Given the description of an element on the screen output the (x, y) to click on. 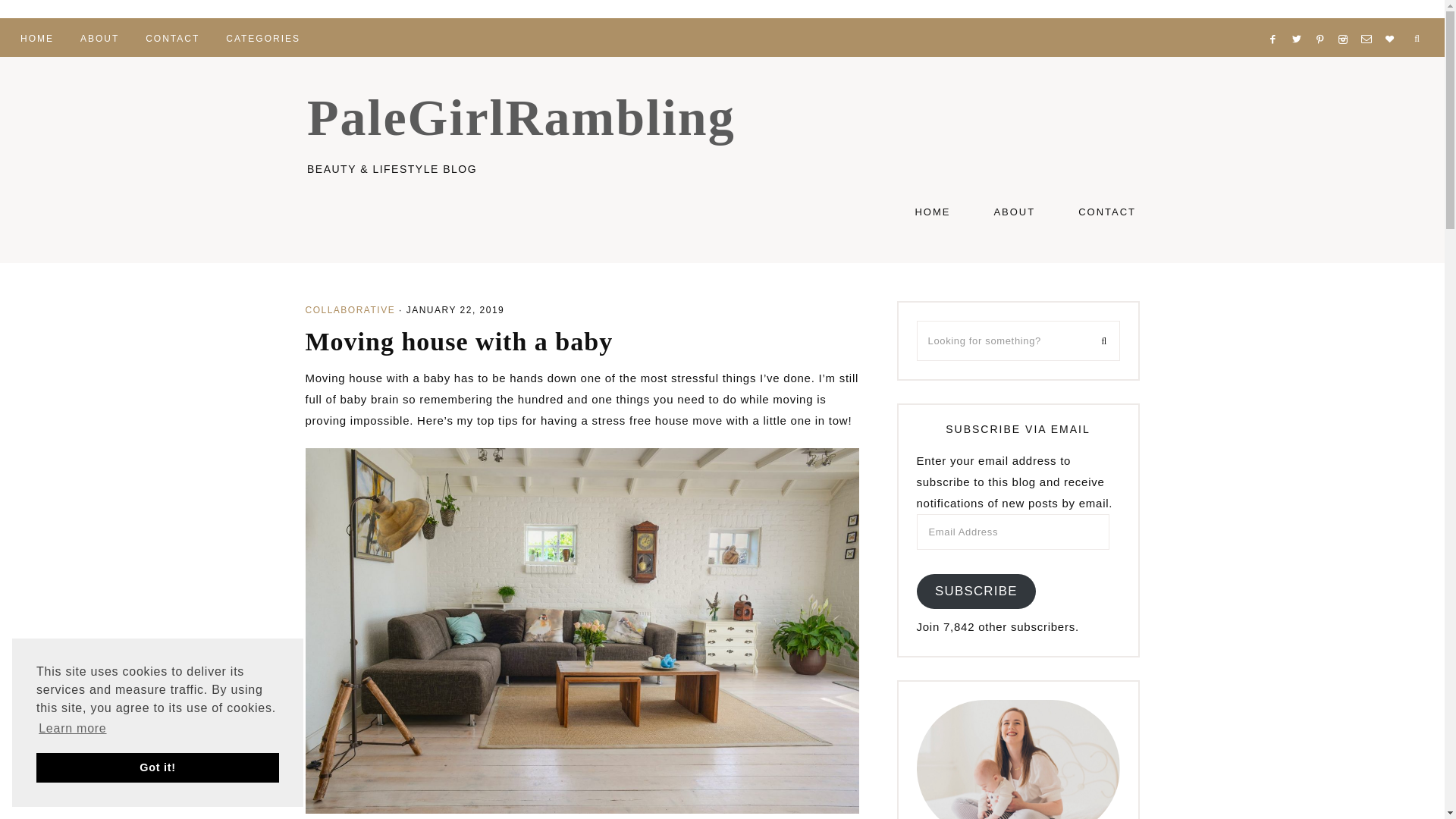
Facebook (1276, 20)
Got it! (157, 767)
Pinterest (1323, 20)
Instagram (1345, 20)
CATEGORIES (262, 37)
Bloglovin (1393, 20)
ABOUT (99, 37)
Twitter (1300, 20)
HOME (36, 37)
Learn more (72, 728)
CONTACT (172, 37)
Email Me (1369, 20)
